Given the description of an element on the screen output the (x, y) to click on. 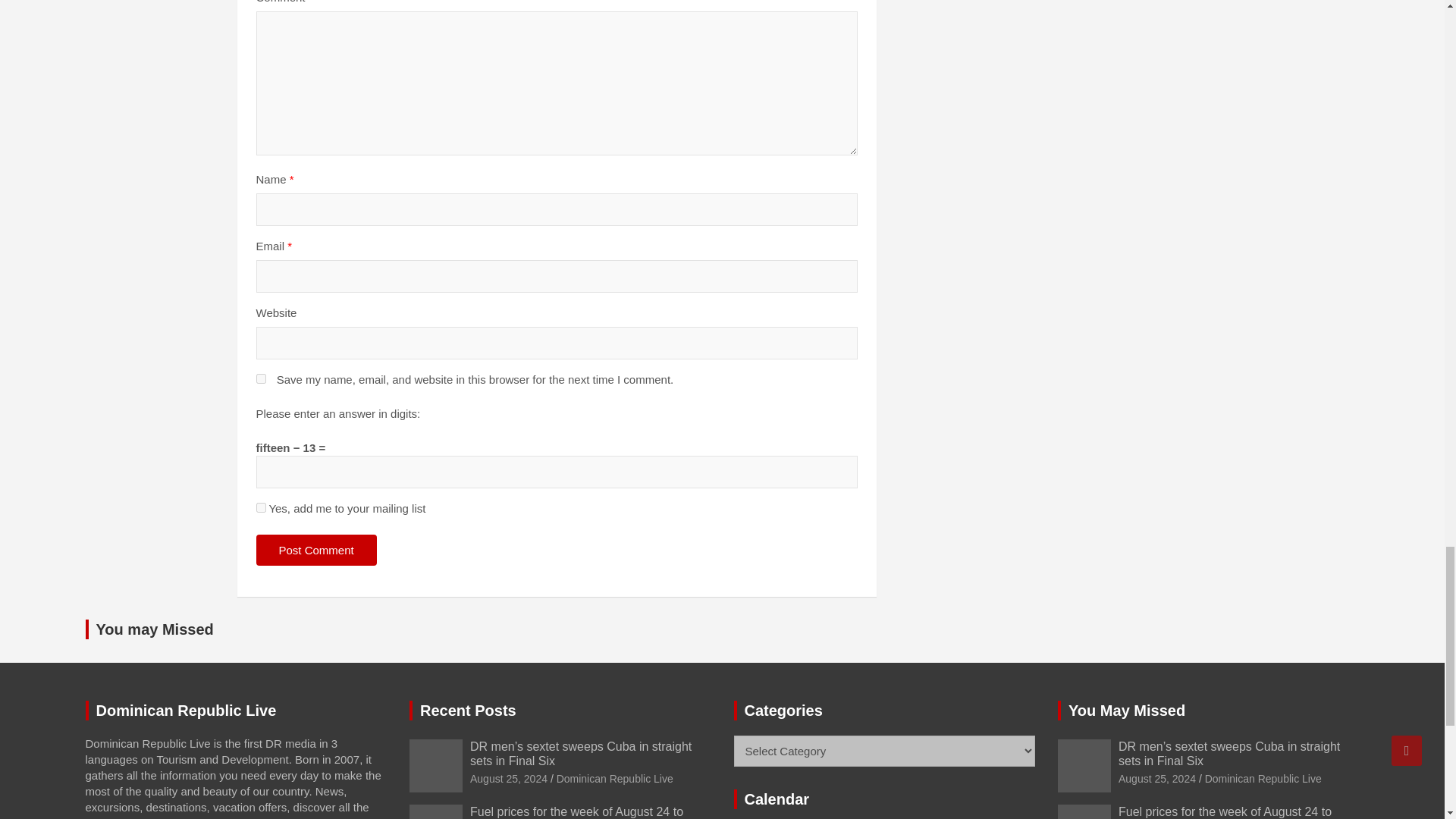
yes (261, 378)
1 (261, 507)
Post Comment (316, 549)
